Given the description of an element on the screen output the (x, y) to click on. 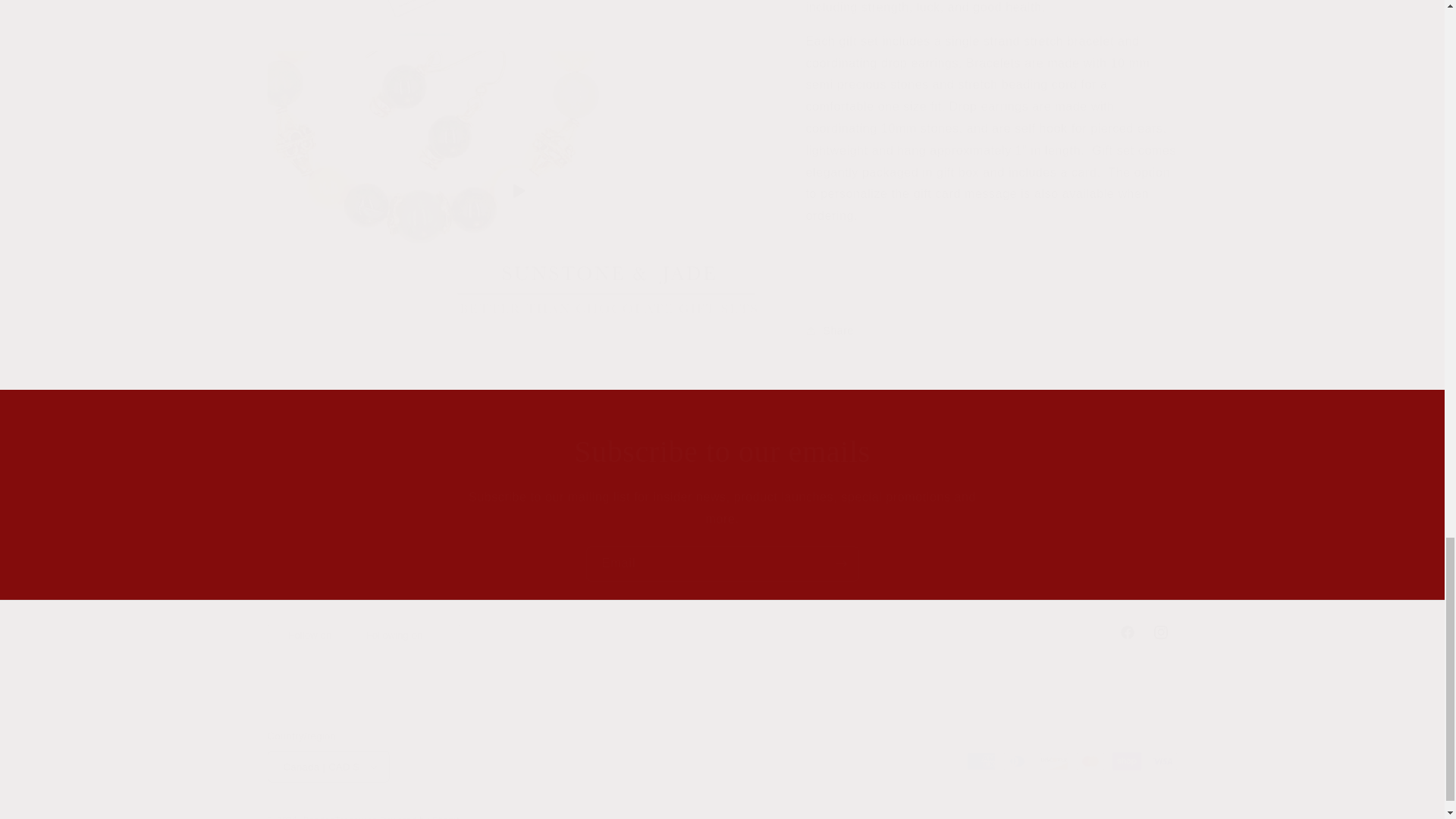
Open media 8 in modal (721, 632)
Subscribe to our emails (387, 10)
Email (721, 451)
